Given the description of an element on the screen output the (x, y) to click on. 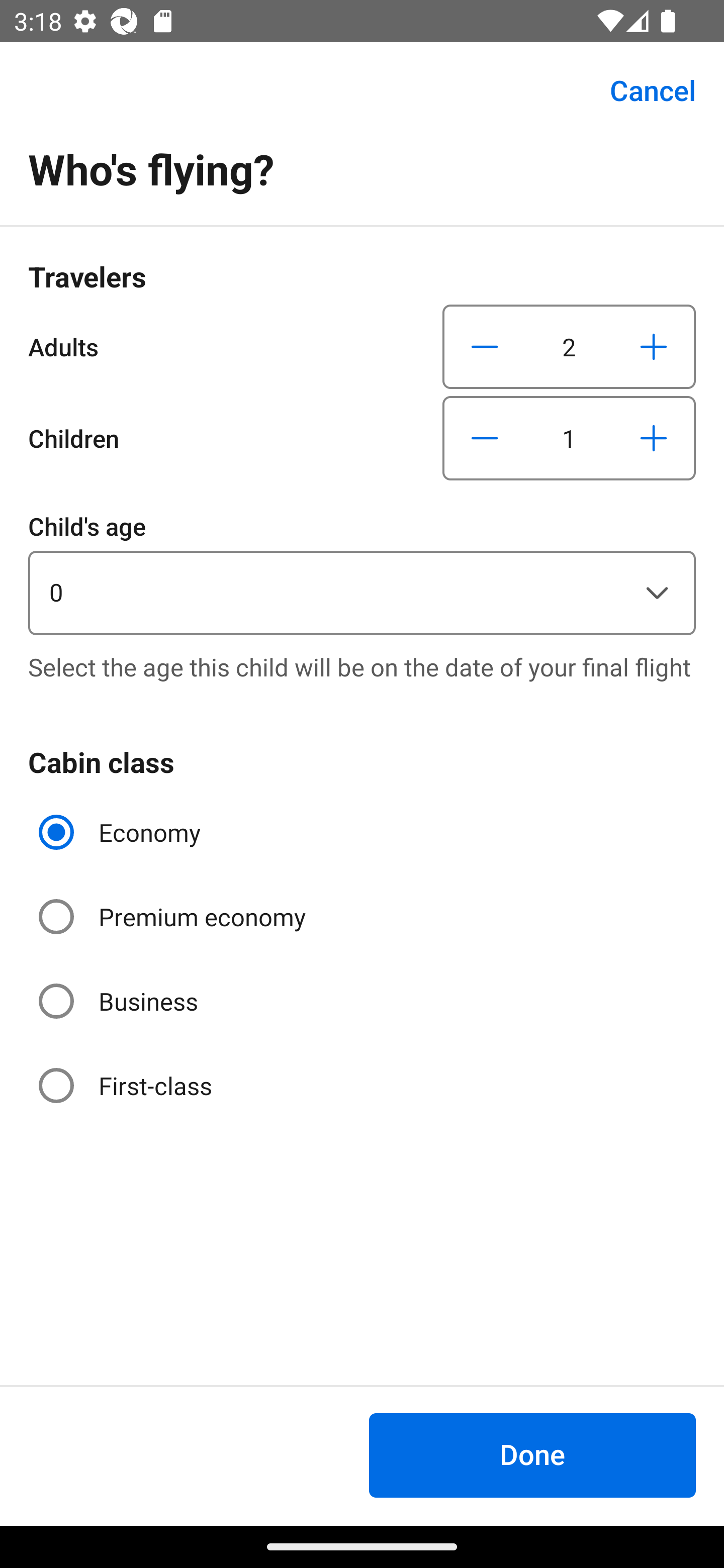
Cancel (641, 90)
Decrease (484, 346)
Increase (653, 346)
Decrease (484, 437)
Increase (653, 437)
Child's age
 Child's age 0 (361, 571)
Economy (121, 832)
Premium economy (174, 916)
Business (120, 1000)
First-class (126, 1084)
Done (532, 1454)
